Given the description of an element on the screen output the (x, y) to click on. 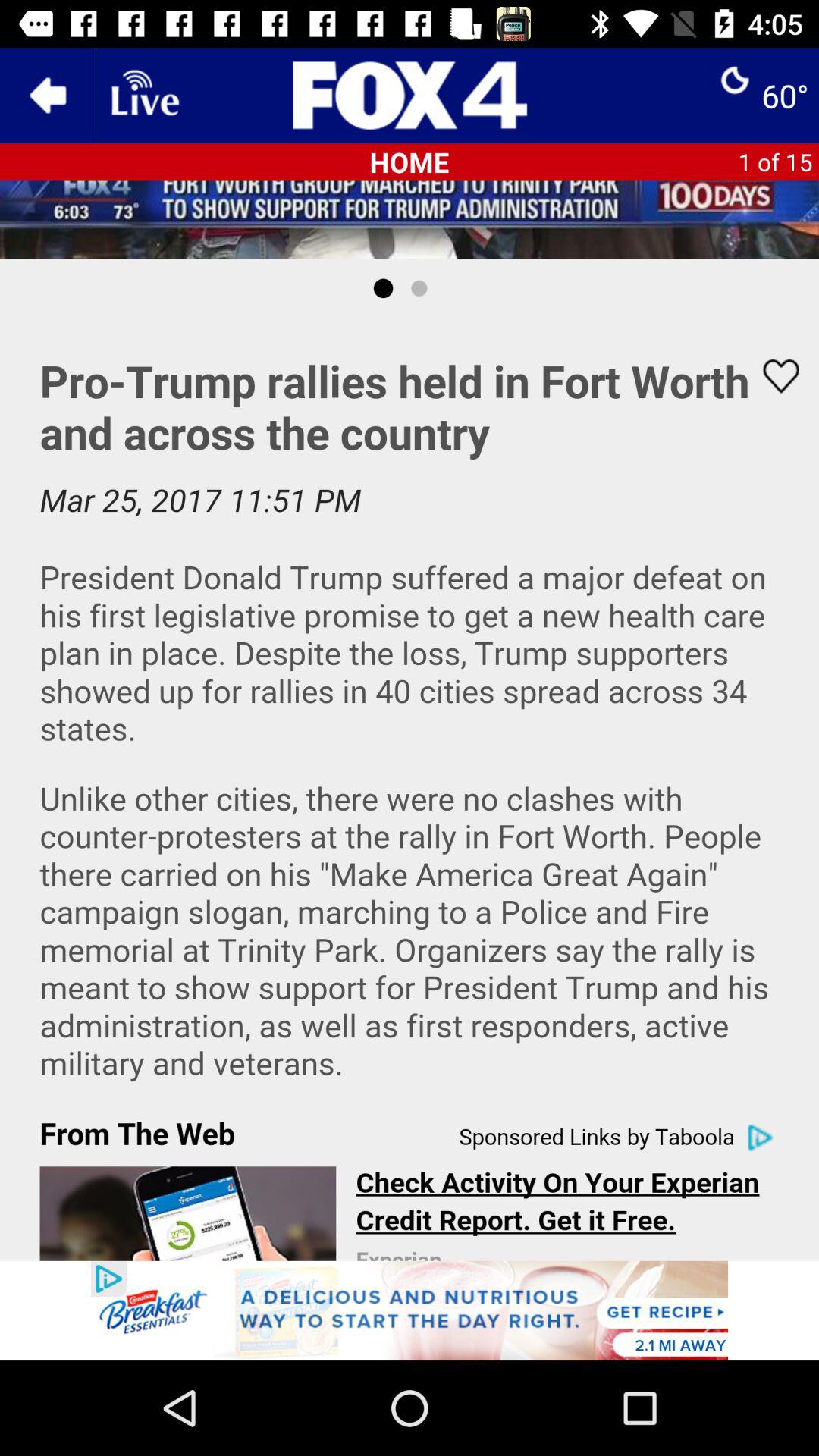
wifi (143, 95)
